Given the description of an element on the screen output the (x, y) to click on. 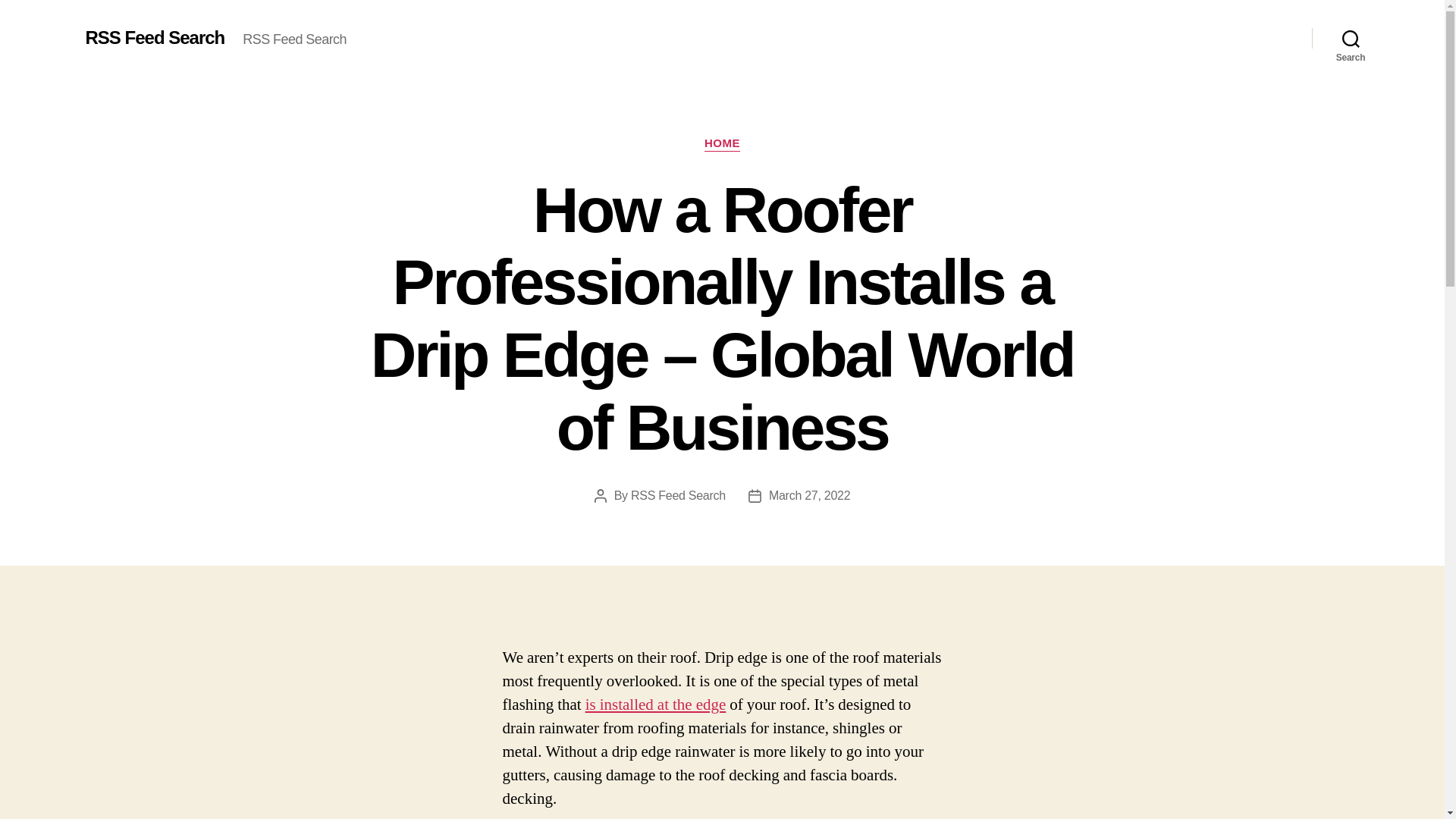
Search (1350, 37)
is installed at the edge (655, 704)
March 27, 2022 (809, 495)
RSS Feed Search (677, 495)
HOME (721, 143)
RSS Feed Search (154, 37)
